Given the description of an element on the screen output the (x, y) to click on. 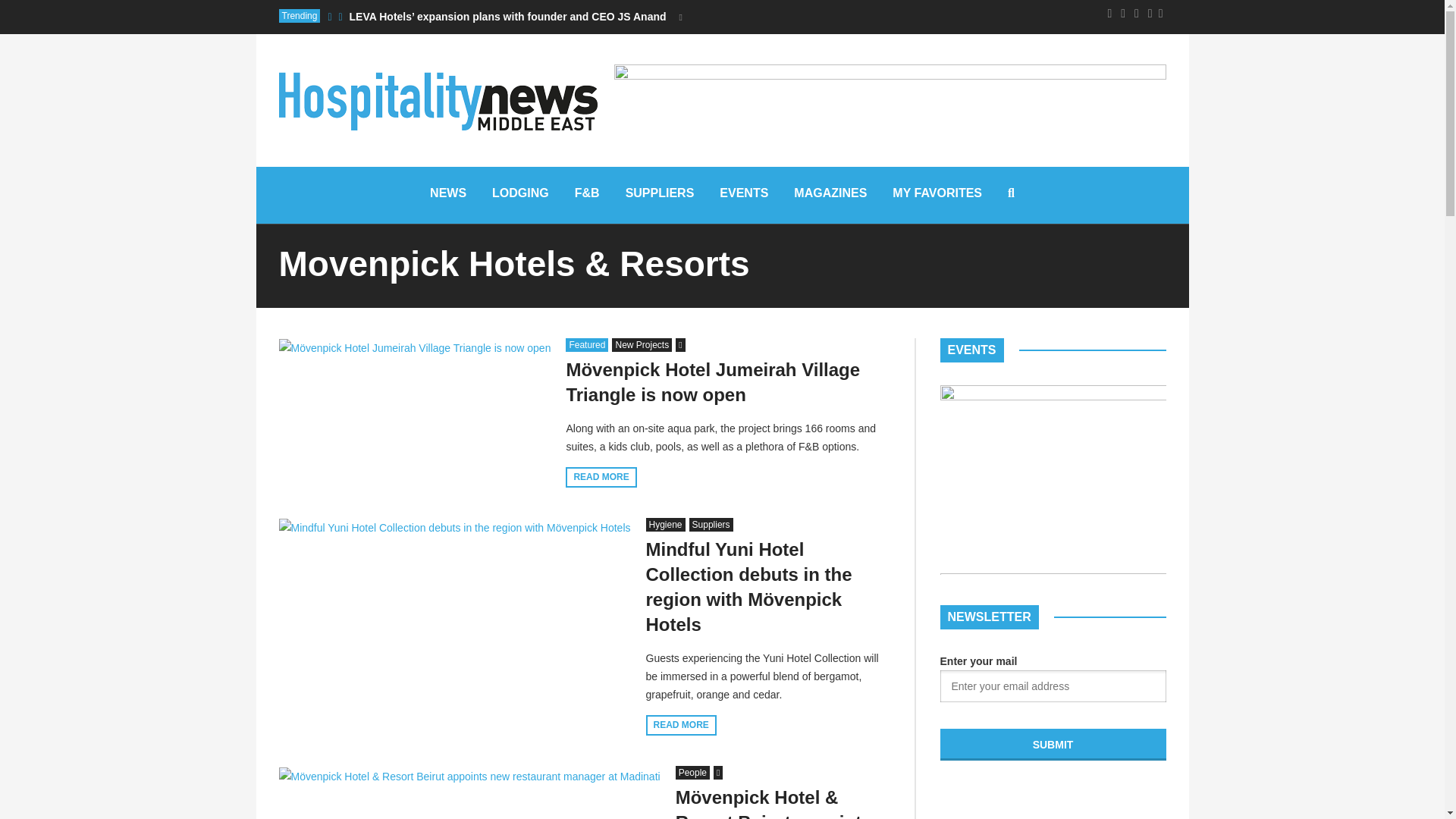
Search (701, 378)
Lodging (520, 195)
Trending (299, 15)
Submit (1053, 744)
News (447, 195)
